Given the description of an element on the screen output the (x, y) to click on. 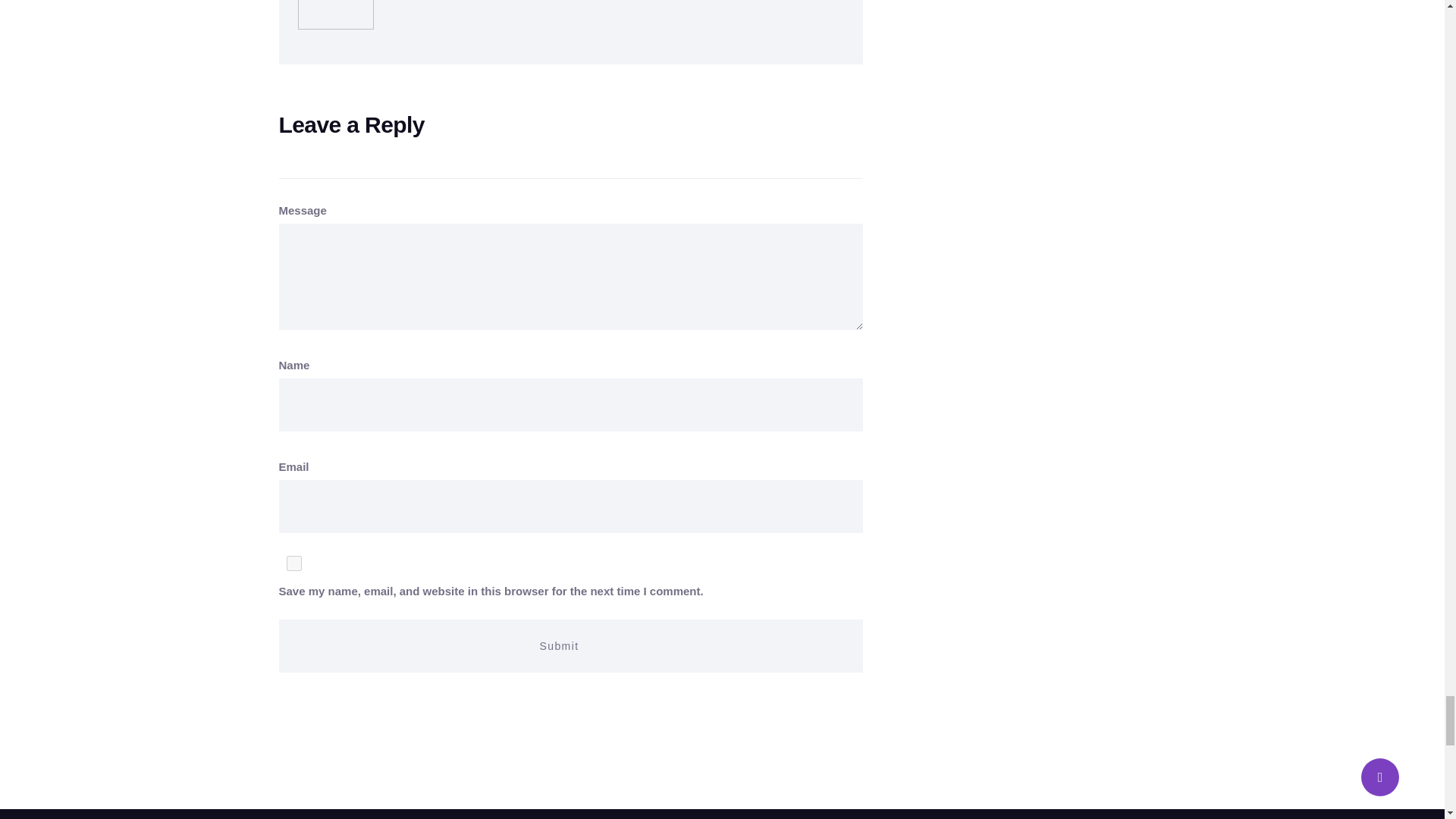
Submit (571, 645)
yes (293, 563)
